Given the description of an element on the screen output the (x, y) to click on. 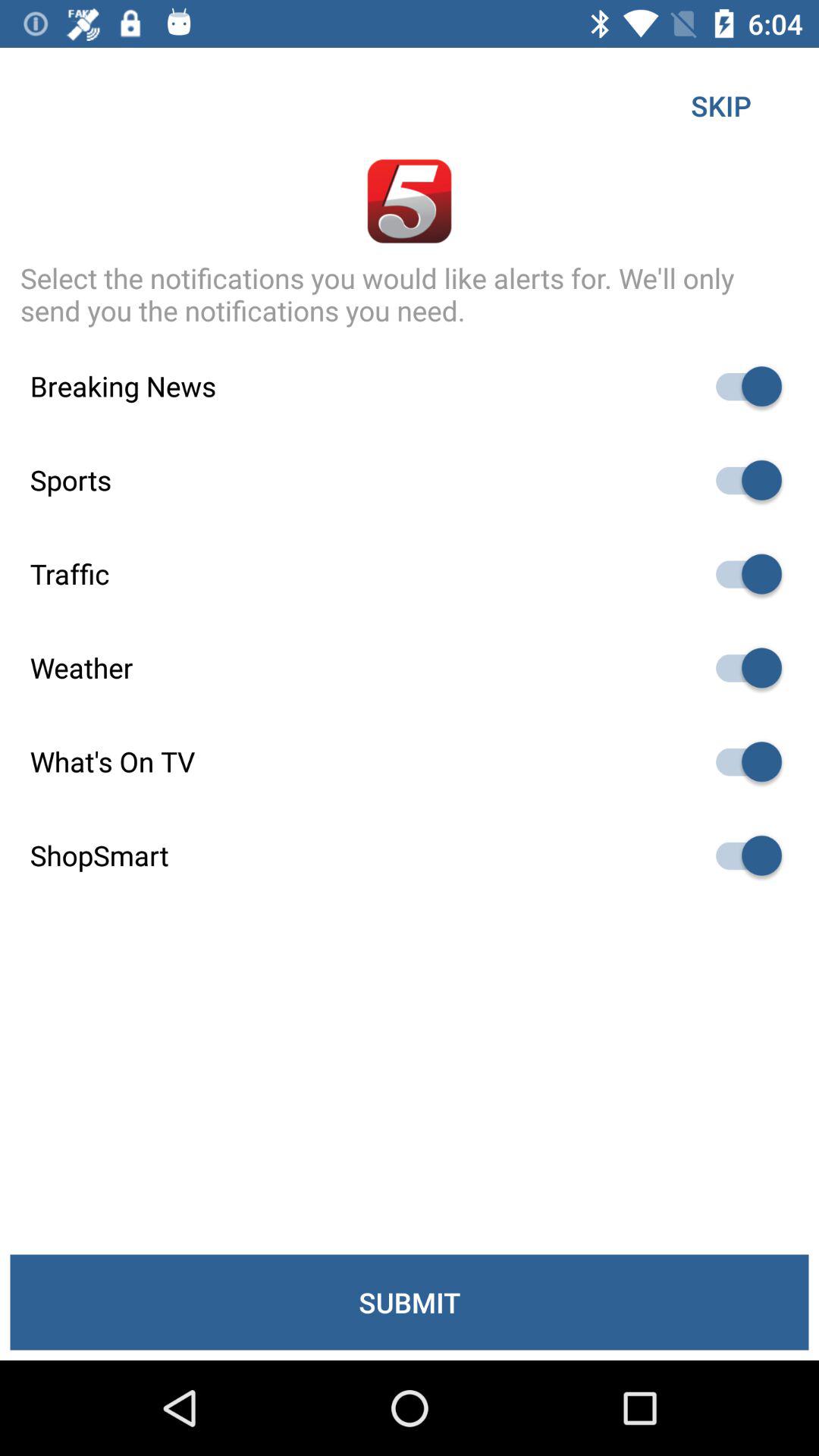
press the skip item (720, 105)
